Given the description of an element on the screen output the (x, y) to click on. 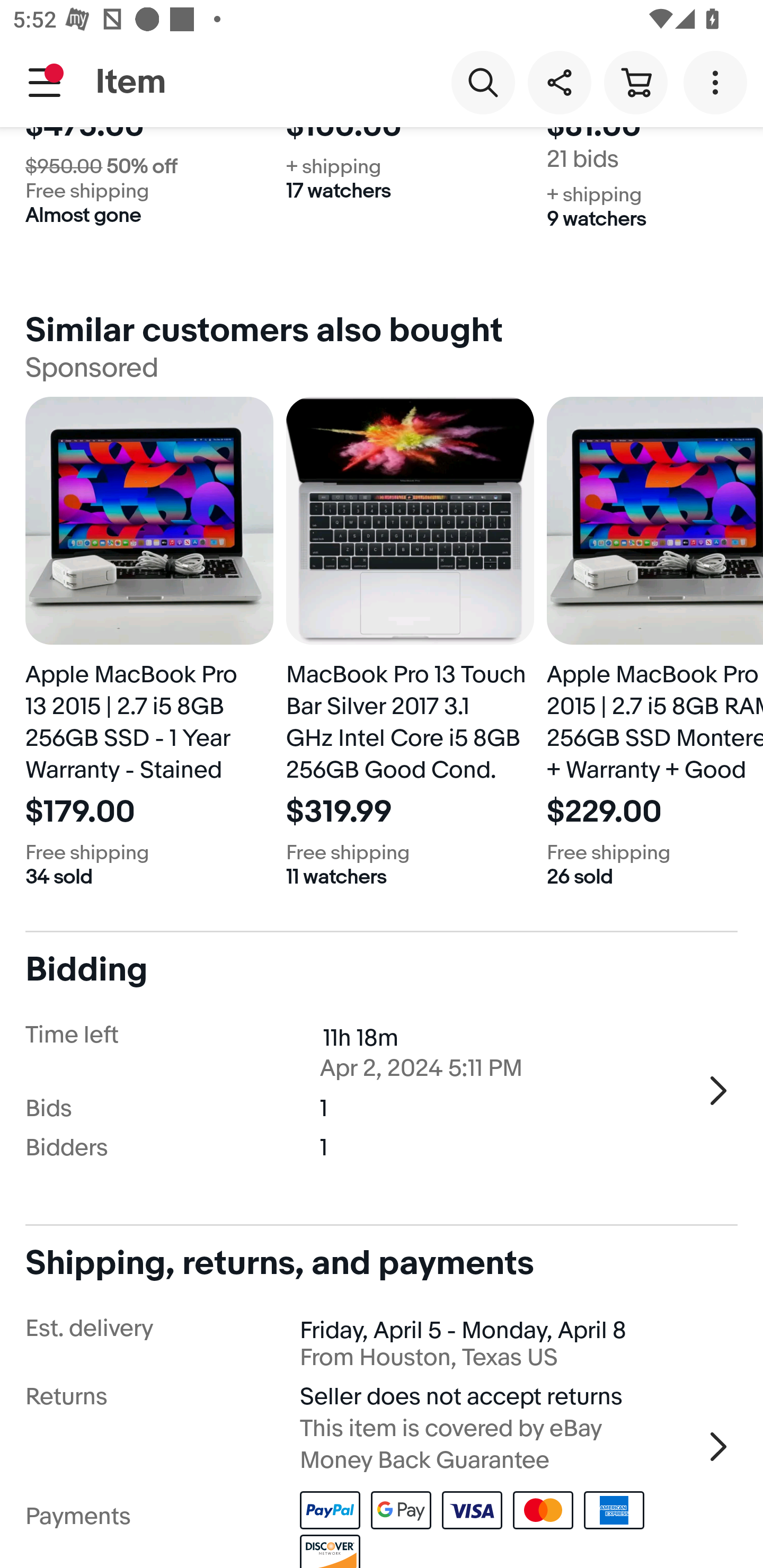
Main navigation, notification is pending, open (44, 82)
Search (482, 81)
Share this item (559, 81)
Cart button shopping cart (635, 81)
More options (718, 81)
